Given the description of an element on the screen output the (x, y) to click on. 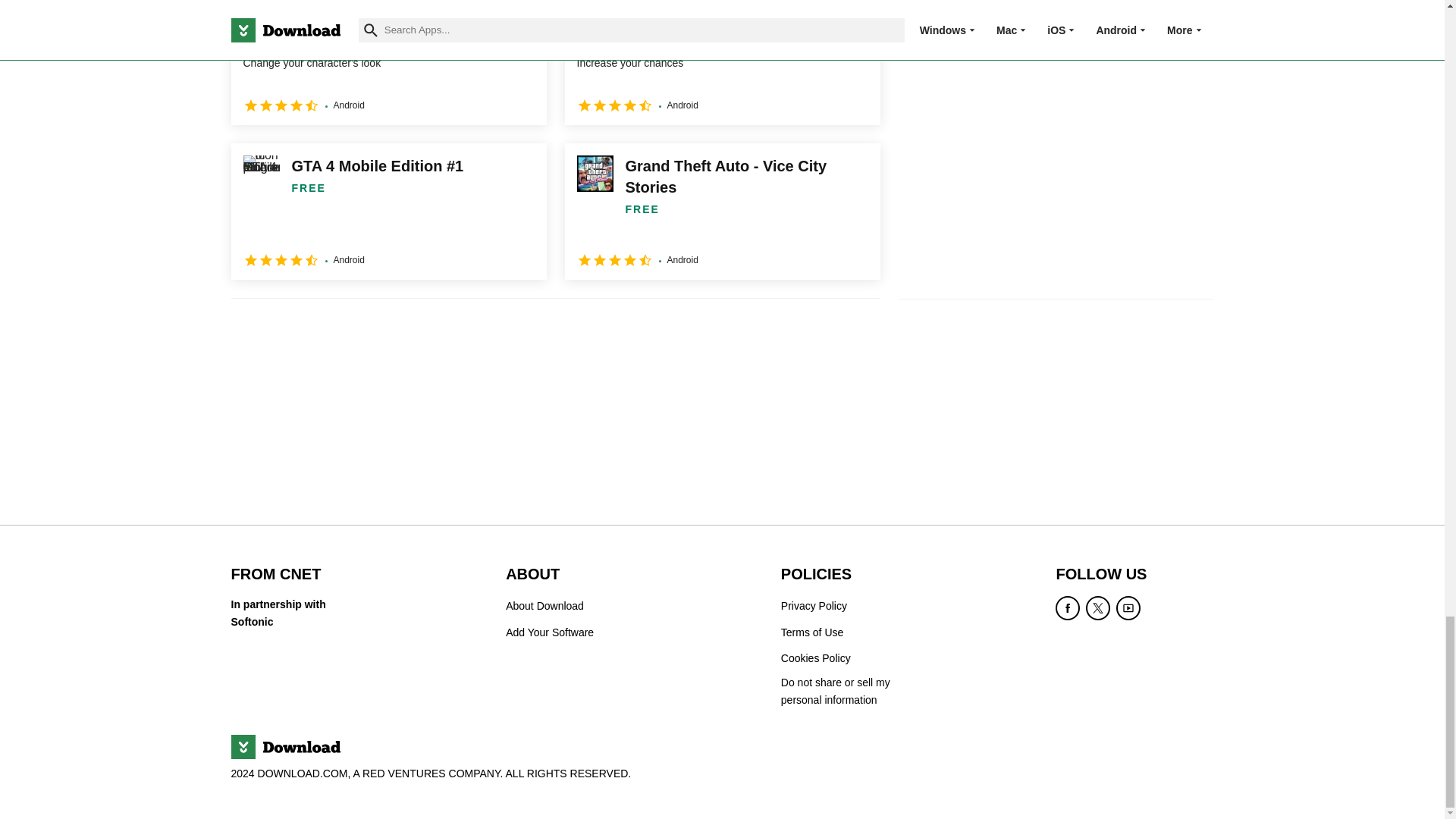
Aviator Predictor Online (721, 62)
ATA MLBG Changer (388, 62)
Become a Facebook fan of Download.com (1067, 607)
Download.com (284, 746)
Grand Theft Auto - Vice City Stories (721, 211)
